Given the description of an element on the screen output the (x, y) to click on. 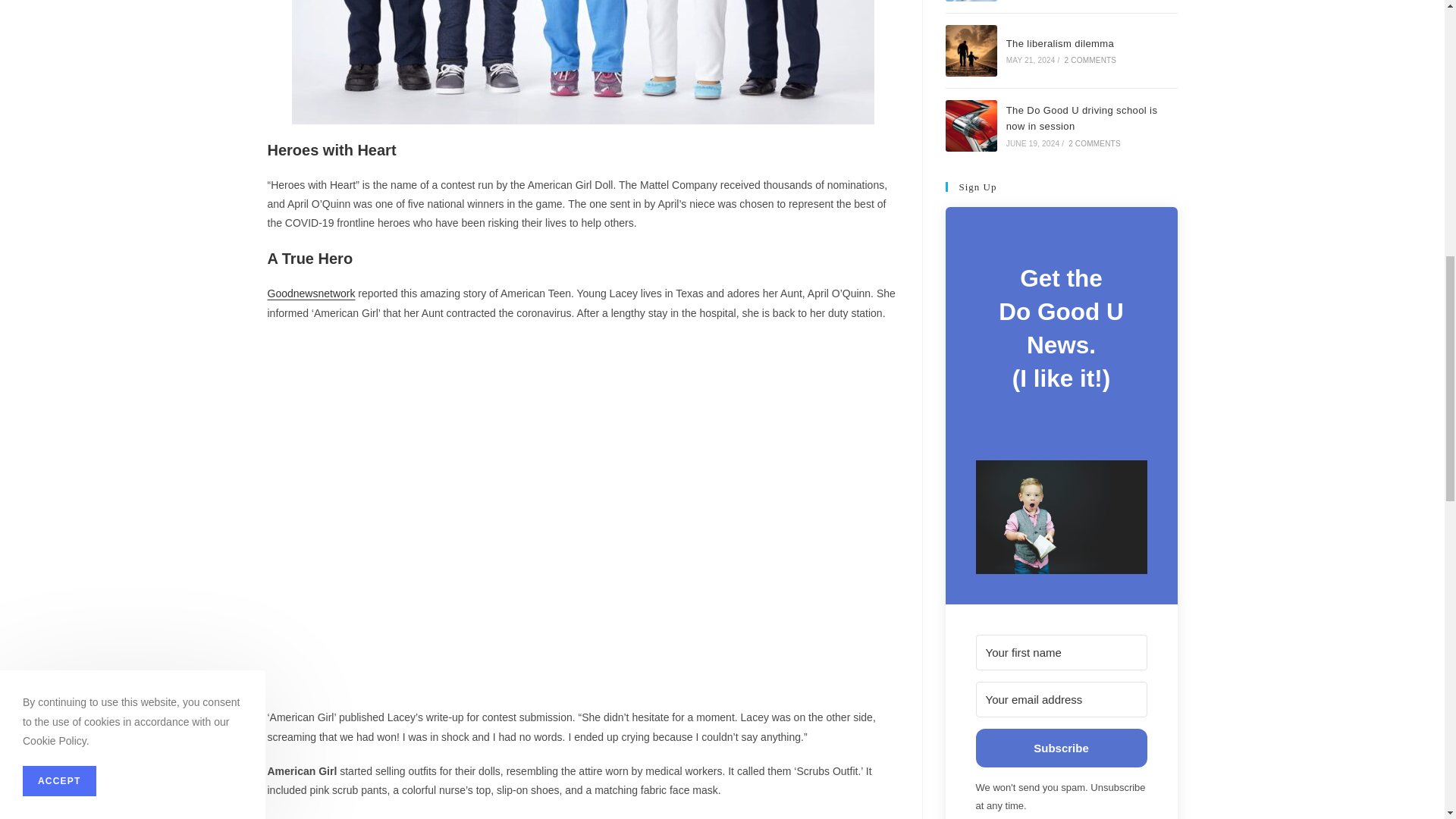
What everyone can learn from The Longest Day of Golf (969, 0)
The Do Good U driving school is now in session (969, 125)
Goodnewsnetwork (310, 293)
The liberalism dilemma (969, 50)
